Given the description of an element on the screen output the (x, y) to click on. 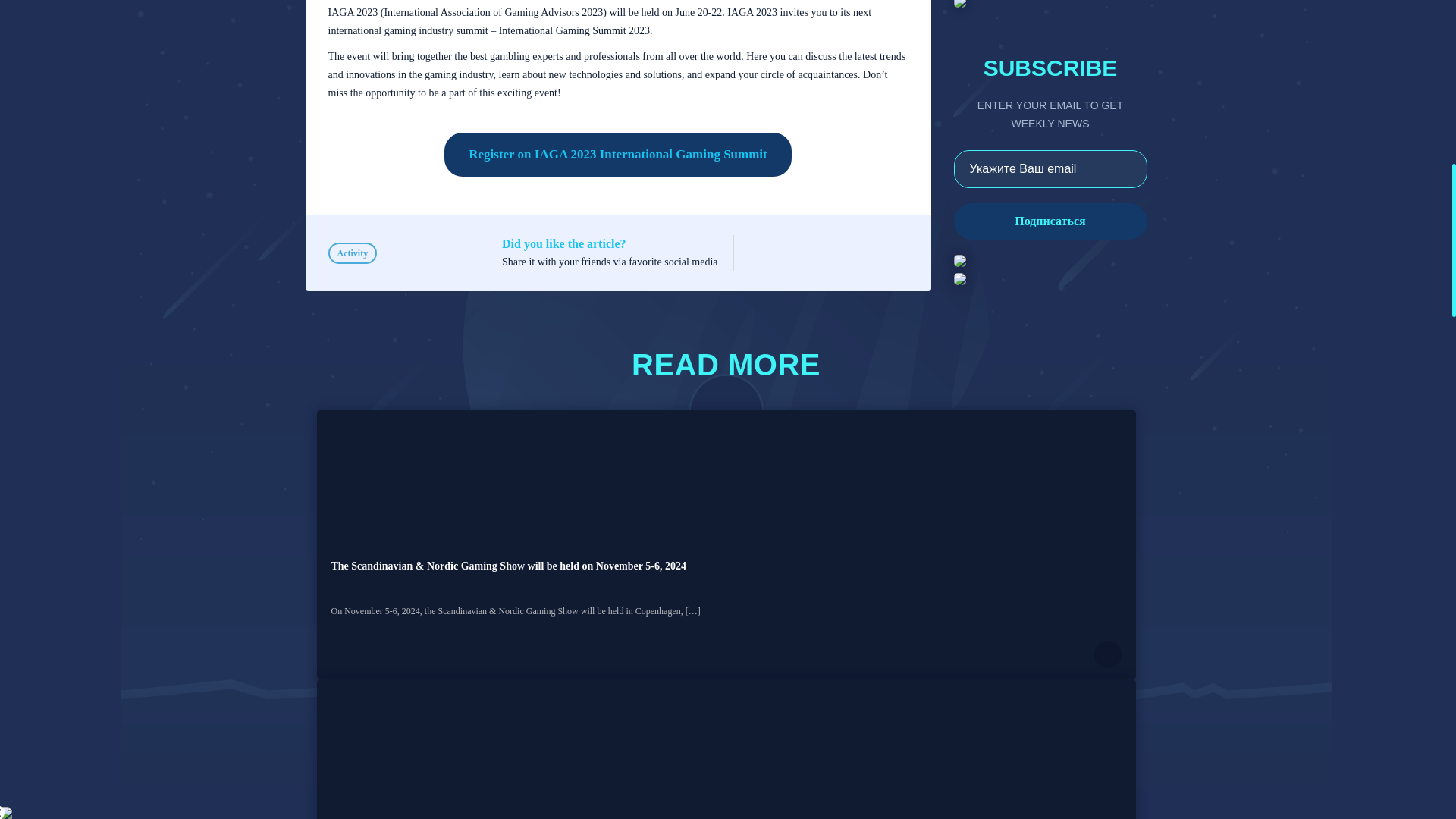
Activity (352, 252)
Register on IAGA 2023 International Gaming Summit (618, 154)
